Given the description of an element on the screen output the (x, y) to click on. 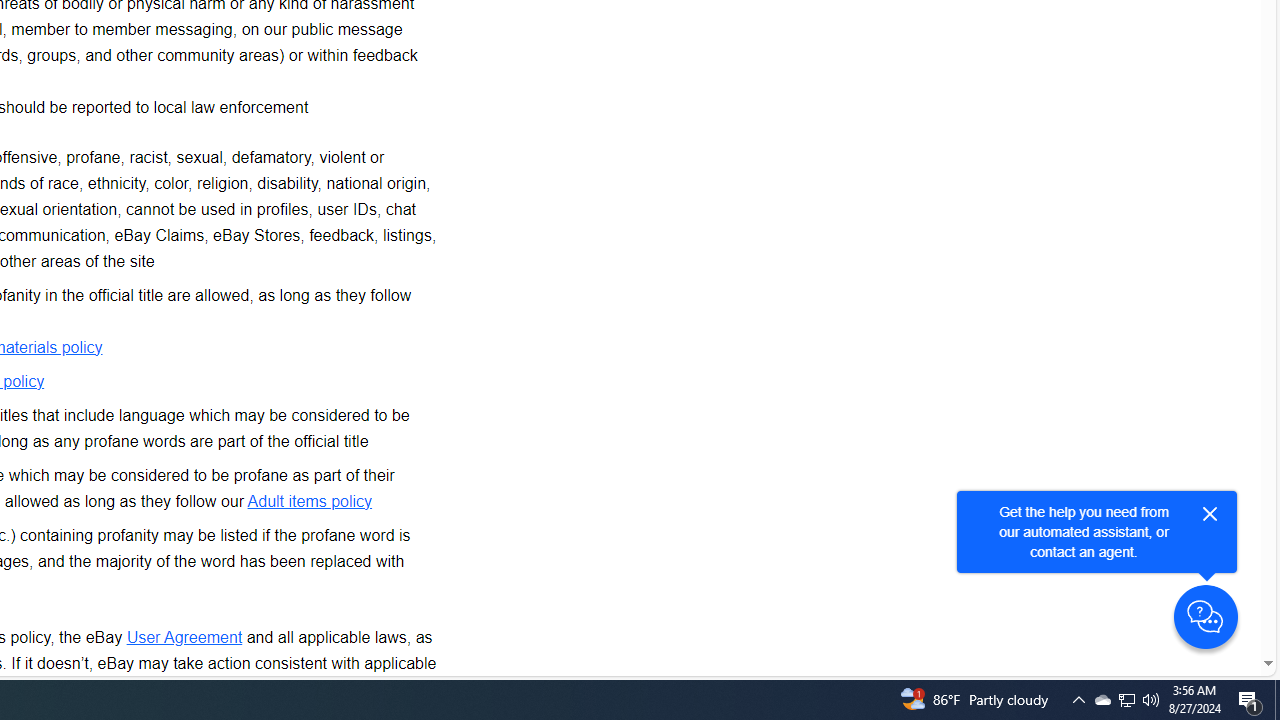
User Agreement (184, 636)
Adult items policy (309, 500)
